Given the description of an element on the screen output the (x, y) to click on. 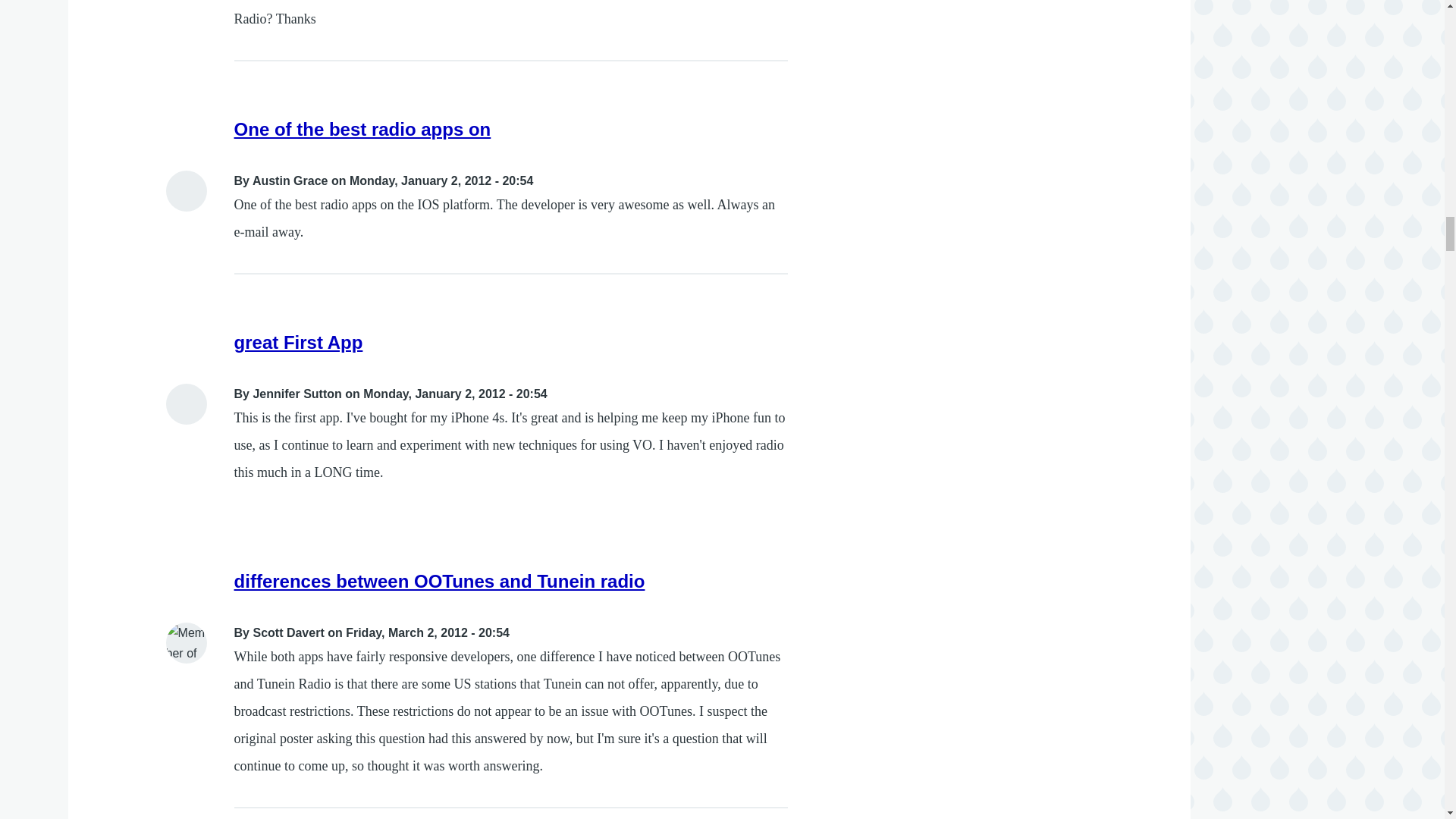
great First App (298, 342)
One of the best radio apps on (363, 128)
differences between OOTunes and Tunein radio (439, 580)
